Given the description of an element on the screen output the (x, y) to click on. 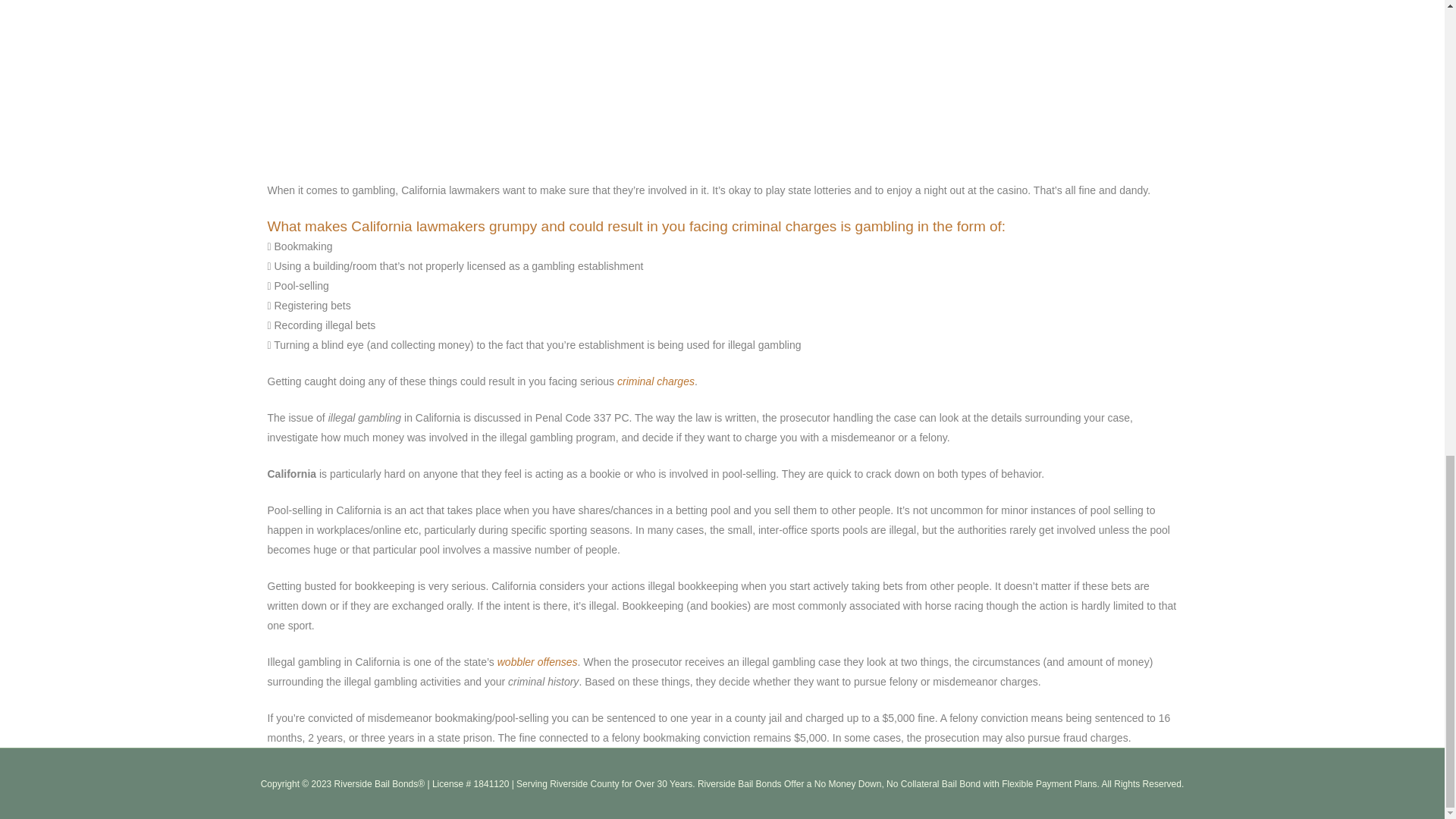
criminal charges (655, 381)
Criminal Contempt of Court (655, 381)
wobbler offenses (537, 662)
Operating a Drug House in California (537, 662)
